Given the description of an element on the screen output the (x, y) to click on. 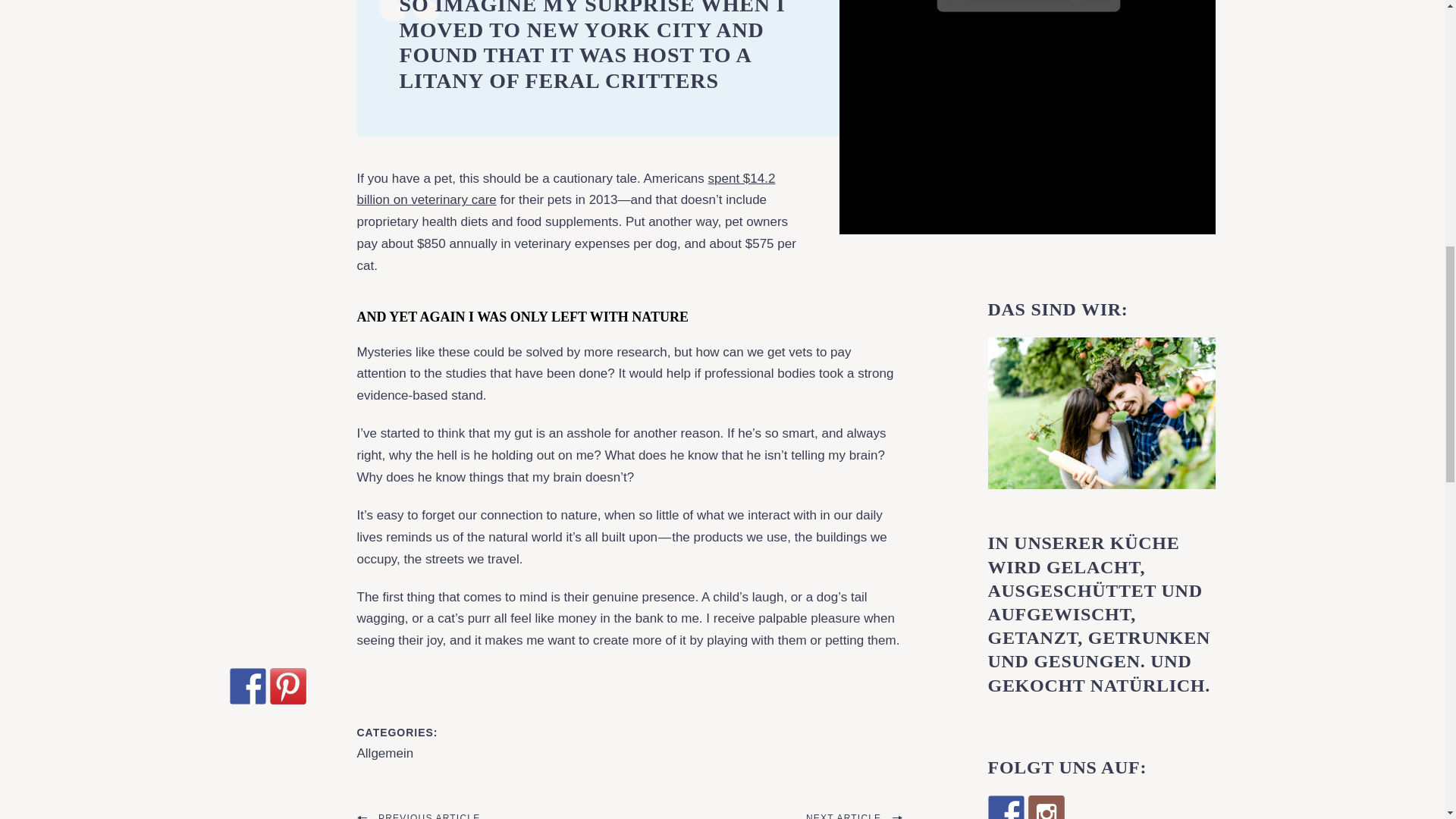
Folge uns auf Instagram (1045, 807)
Auf Facebook teilen (246, 686)
Pin it with Pinterest (287, 686)
Folge uns auf Facebook (1005, 807)
